Given the description of an element on the screen output the (x, y) to click on. 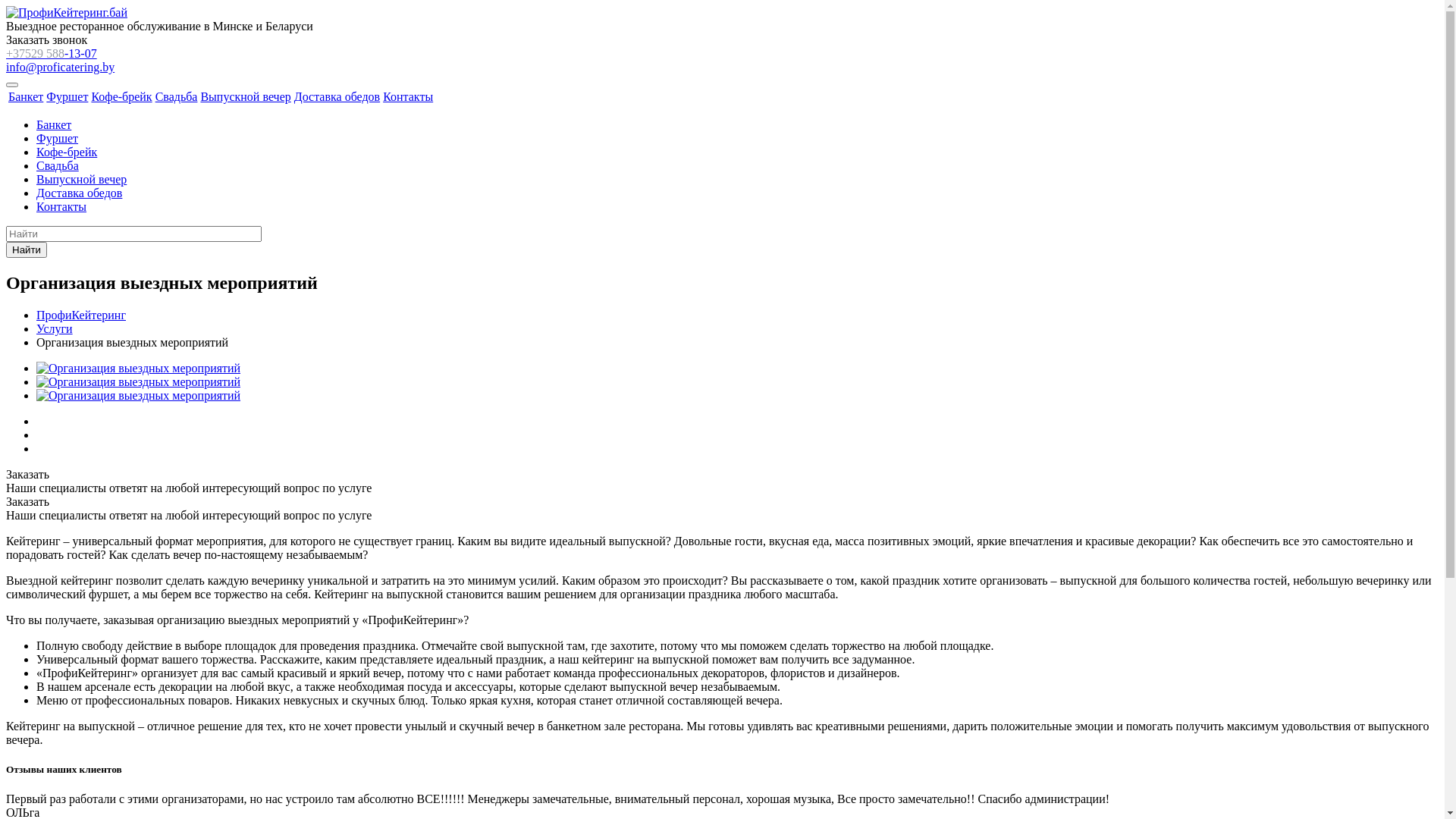
+37529 588-13-07 Element type: text (51, 53)
info@proficatering.by Element type: text (60, 66)
